Given the description of an element on the screen output the (x, y) to click on. 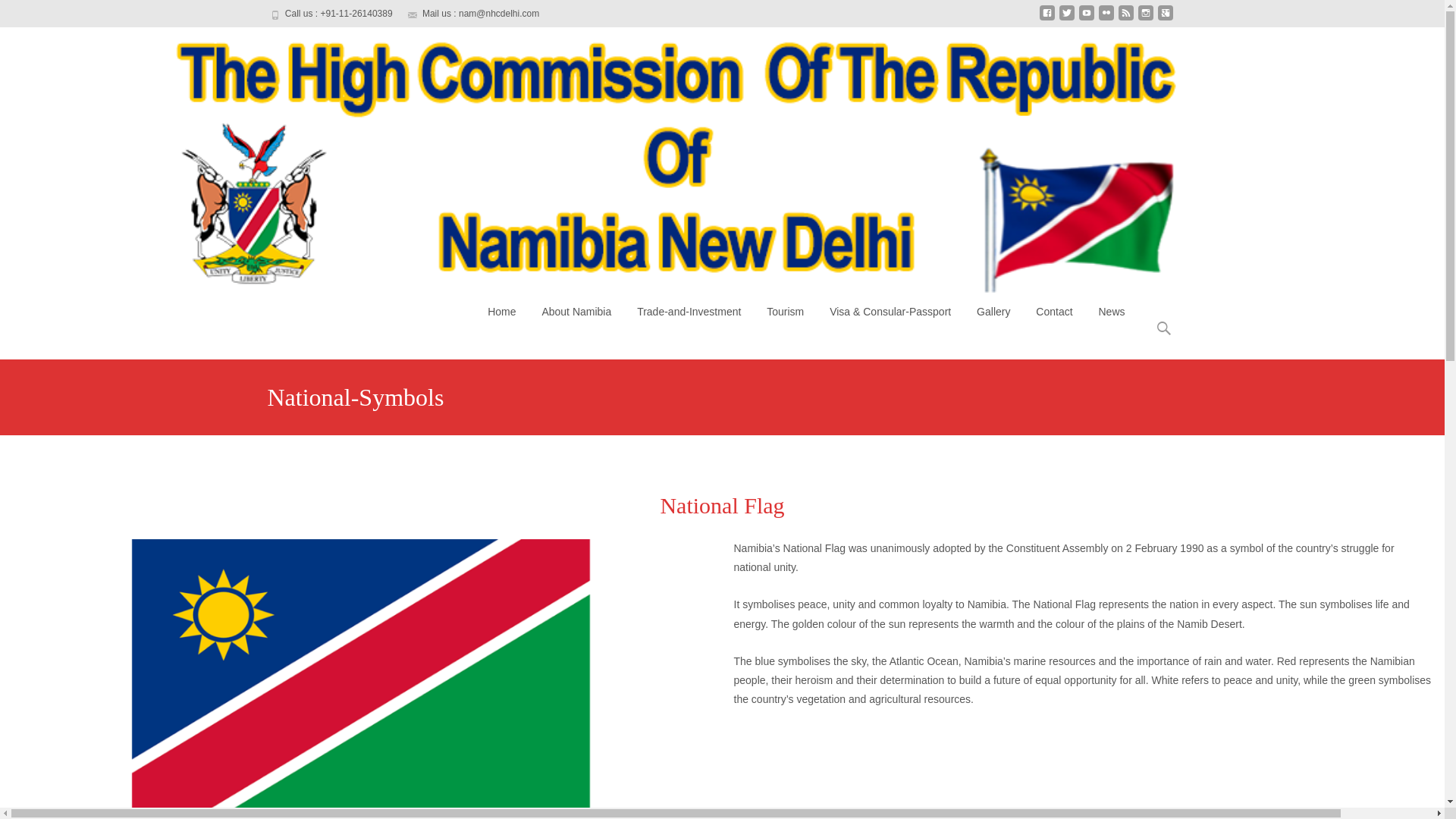
twitter (1066, 19)
instagram (1145, 19)
Trade-and-Investment (689, 311)
youtube (1085, 19)
googleplus (1164, 19)
Namibia High Commission (272, 322)
flickr (1105, 19)
Tourism (785, 311)
